Given the description of an element on the screen output the (x, y) to click on. 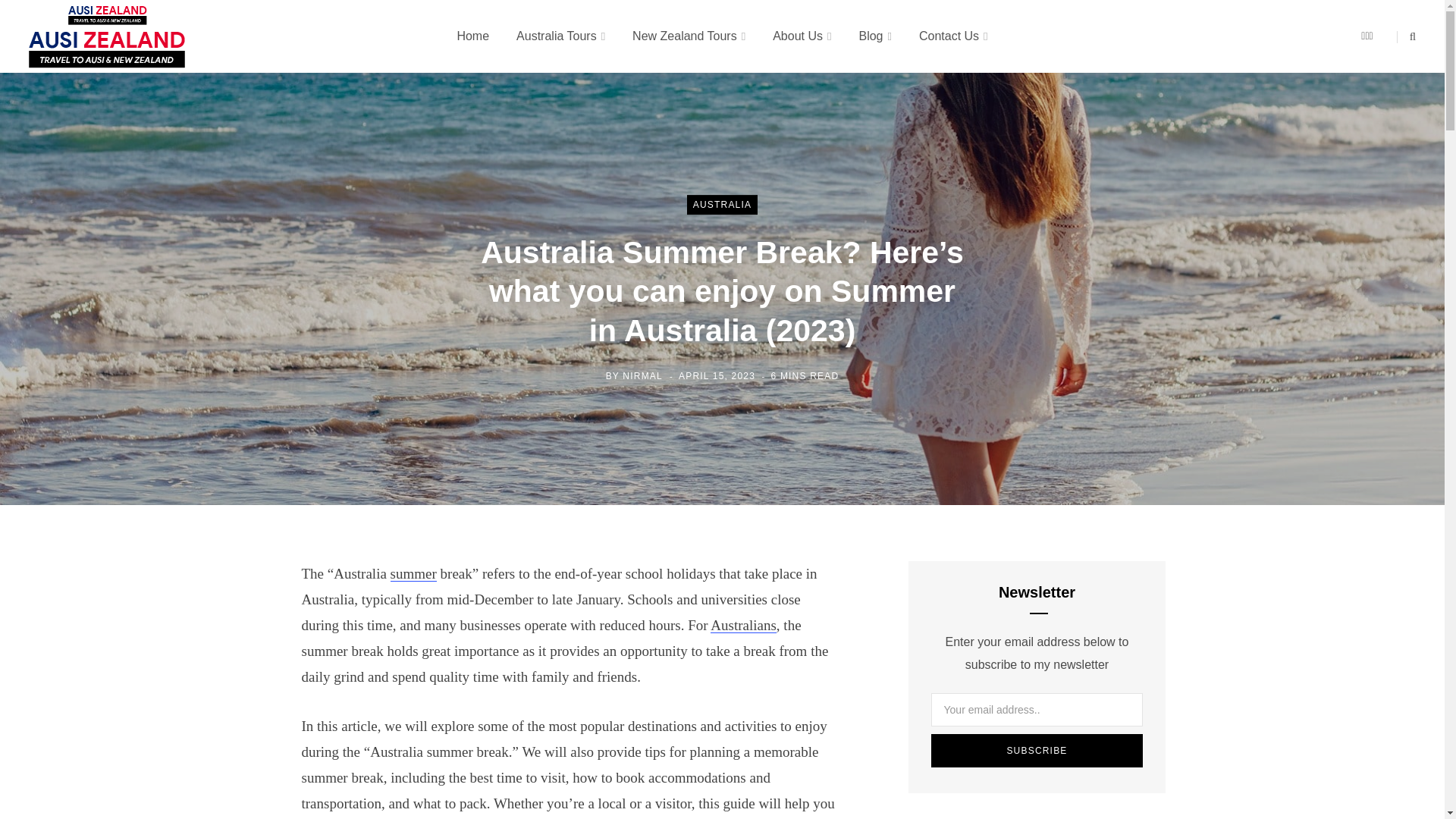
Australians (743, 625)
New Zealand Tours (688, 36)
NIRMAL (642, 376)
Australia Tours (560, 36)
Ausi Zealand (107, 35)
Subscribe (1036, 750)
Contact Us (953, 36)
Posts by Nirmal (642, 376)
About Us (801, 36)
summer (413, 573)
AUSTRALIA (722, 204)
